Given the description of an element on the screen output the (x, y) to click on. 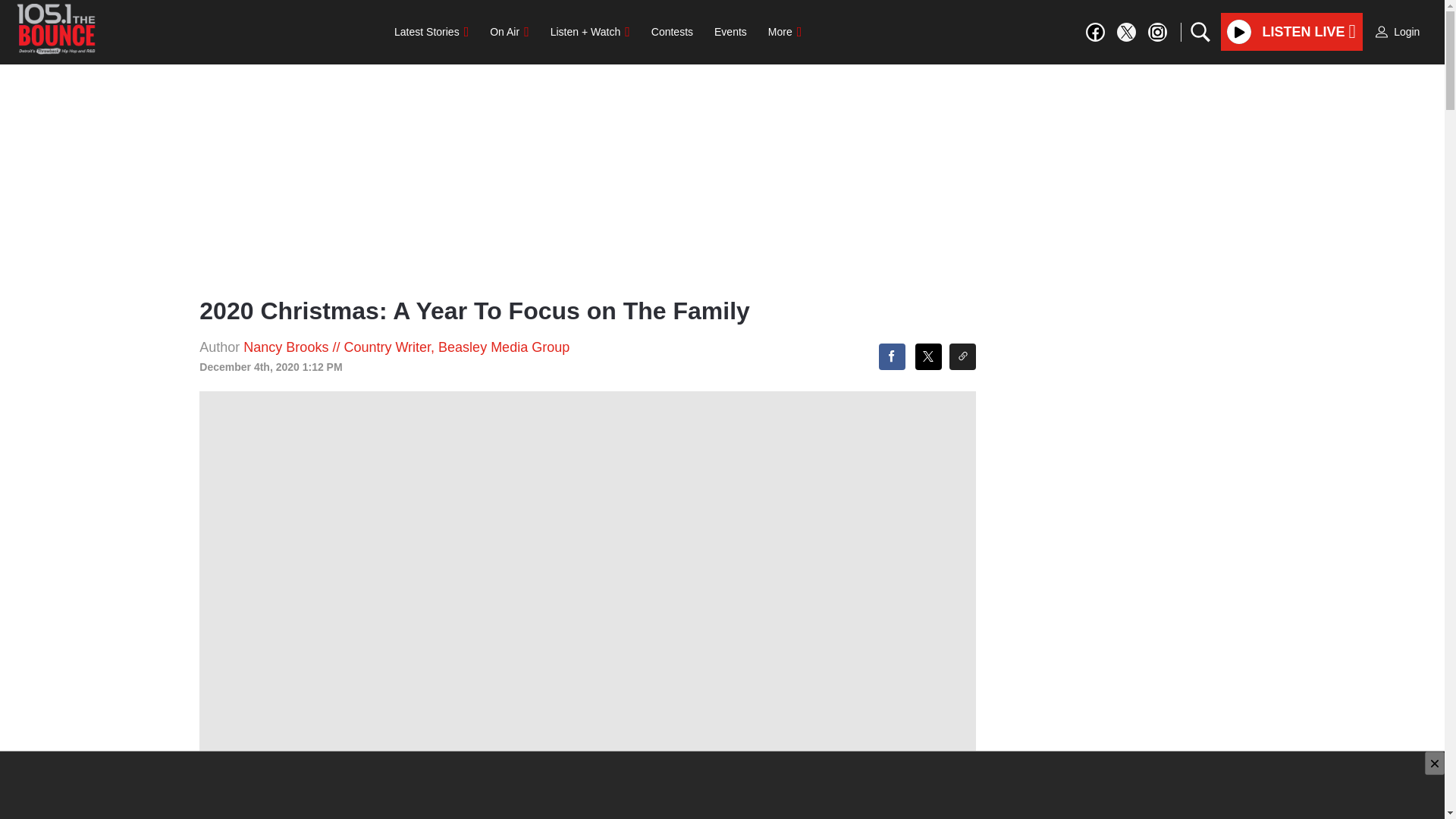
Latest Stories (431, 31)
On Air (508, 31)
Close AdCheckmark indicating ad close (1434, 763)
Events (730, 31)
More (784, 31)
Contests (671, 31)
